Given the description of an element on the screen output the (x, y) to click on. 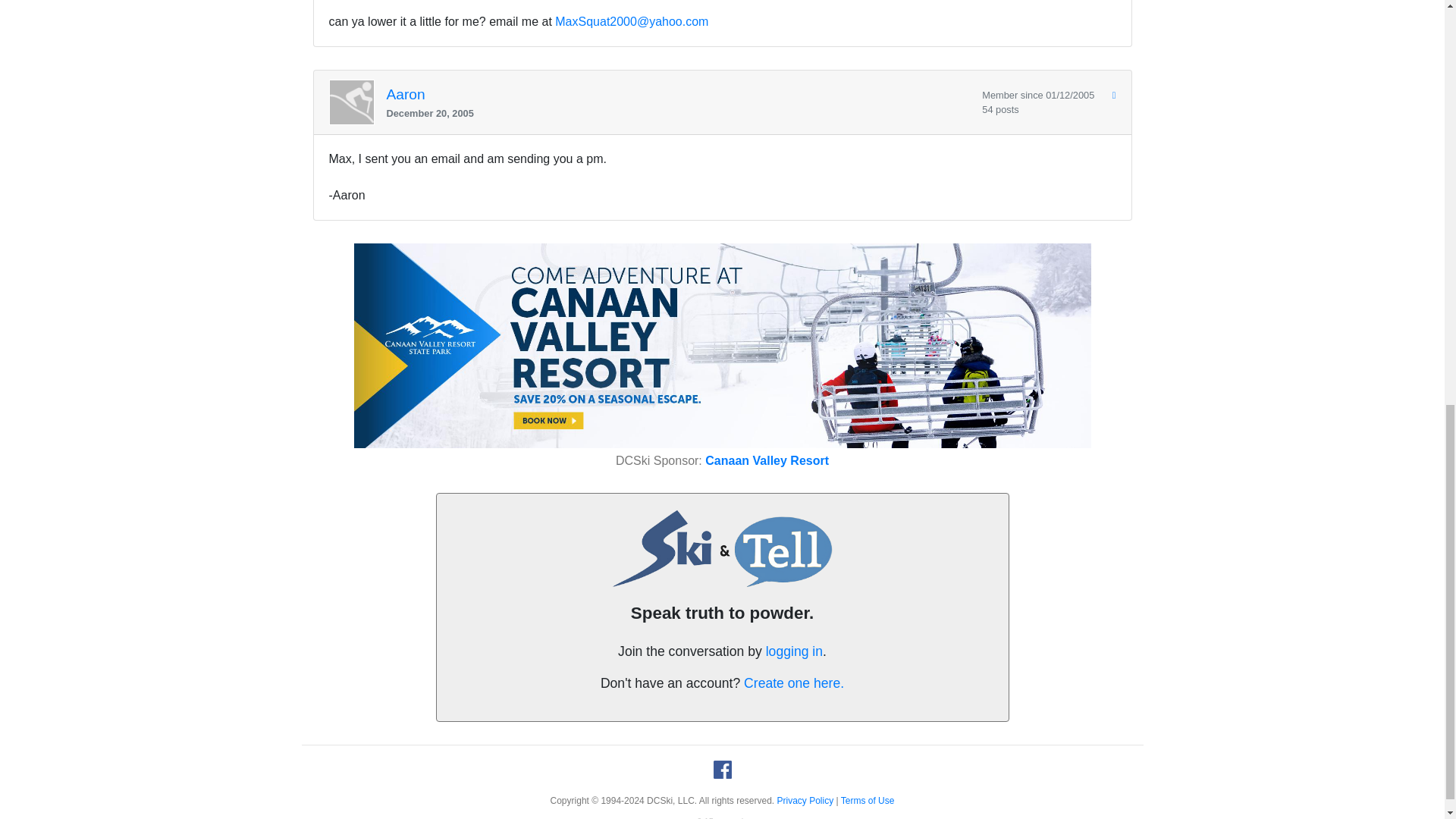
Canaan Valley Resort (766, 460)
December 20, 2005 at 09:55 pm (679, 113)
Create one here. (794, 683)
Aaron (406, 94)
logging in (793, 651)
